Given the description of an element on the screen output the (x, y) to click on. 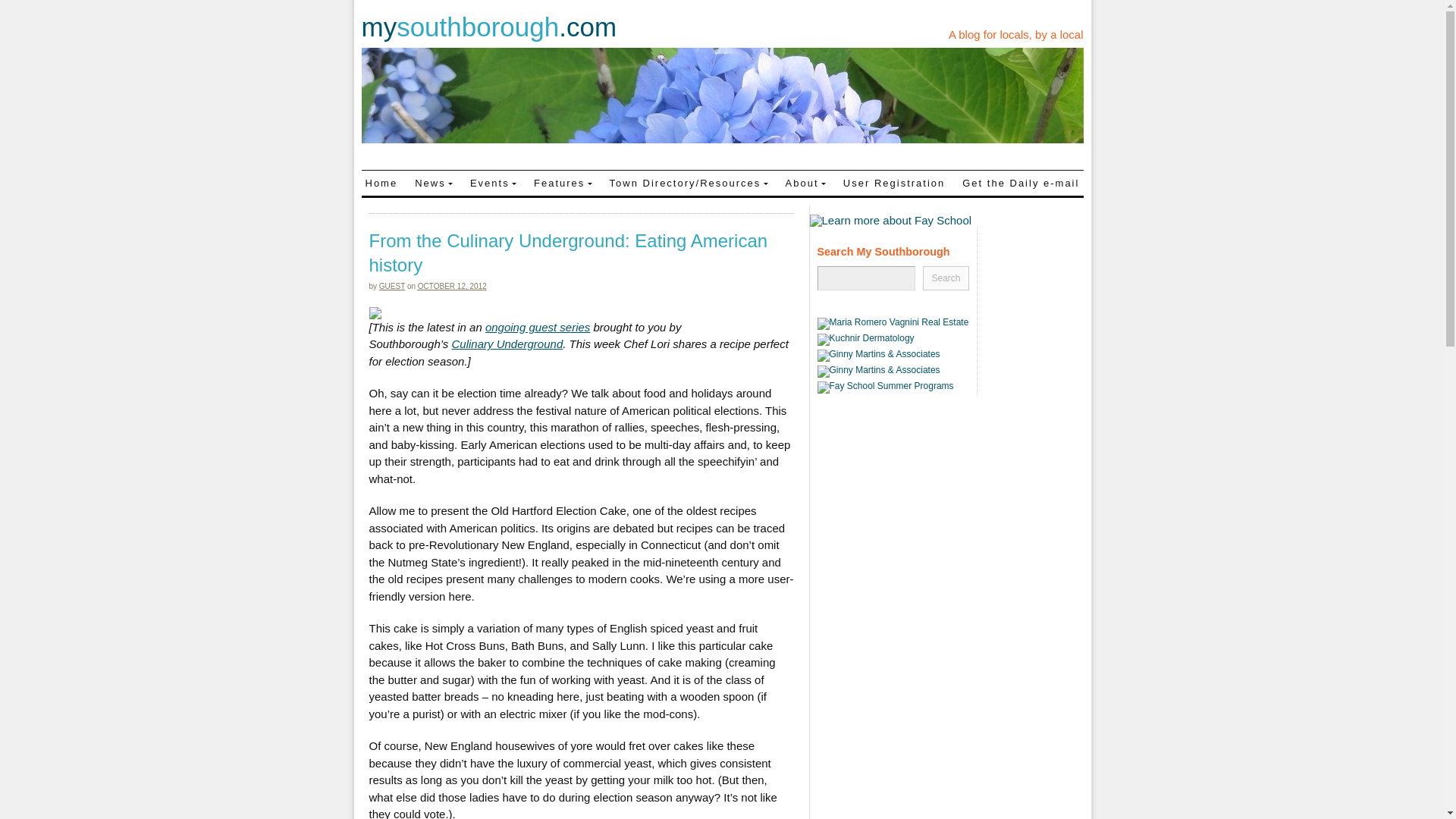
News (433, 182)
News (433, 182)
mysouthborough.com (488, 26)
Features (562, 182)
Home (381, 182)
A blog for locals, by a local (1016, 33)
Home (381, 182)
Events (492, 182)
